Given the description of an element on the screen output the (x, y) to click on. 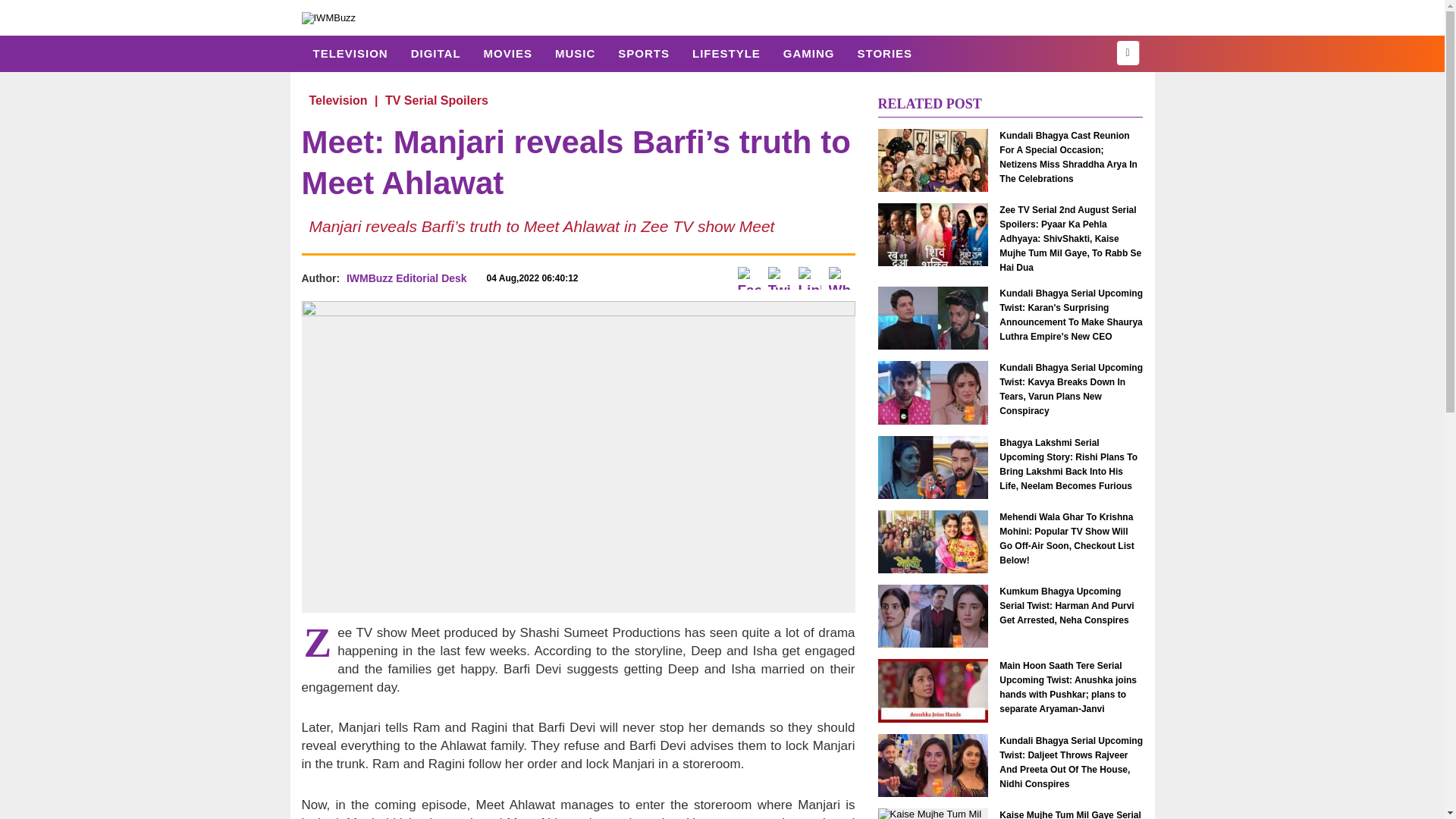
Television (337, 100)
IWMBuzz (328, 16)
TV Serial Spoilers (436, 100)
Movies (507, 53)
TELEVISION (349, 53)
Music (575, 53)
